Given the description of an element on the screen output the (x, y) to click on. 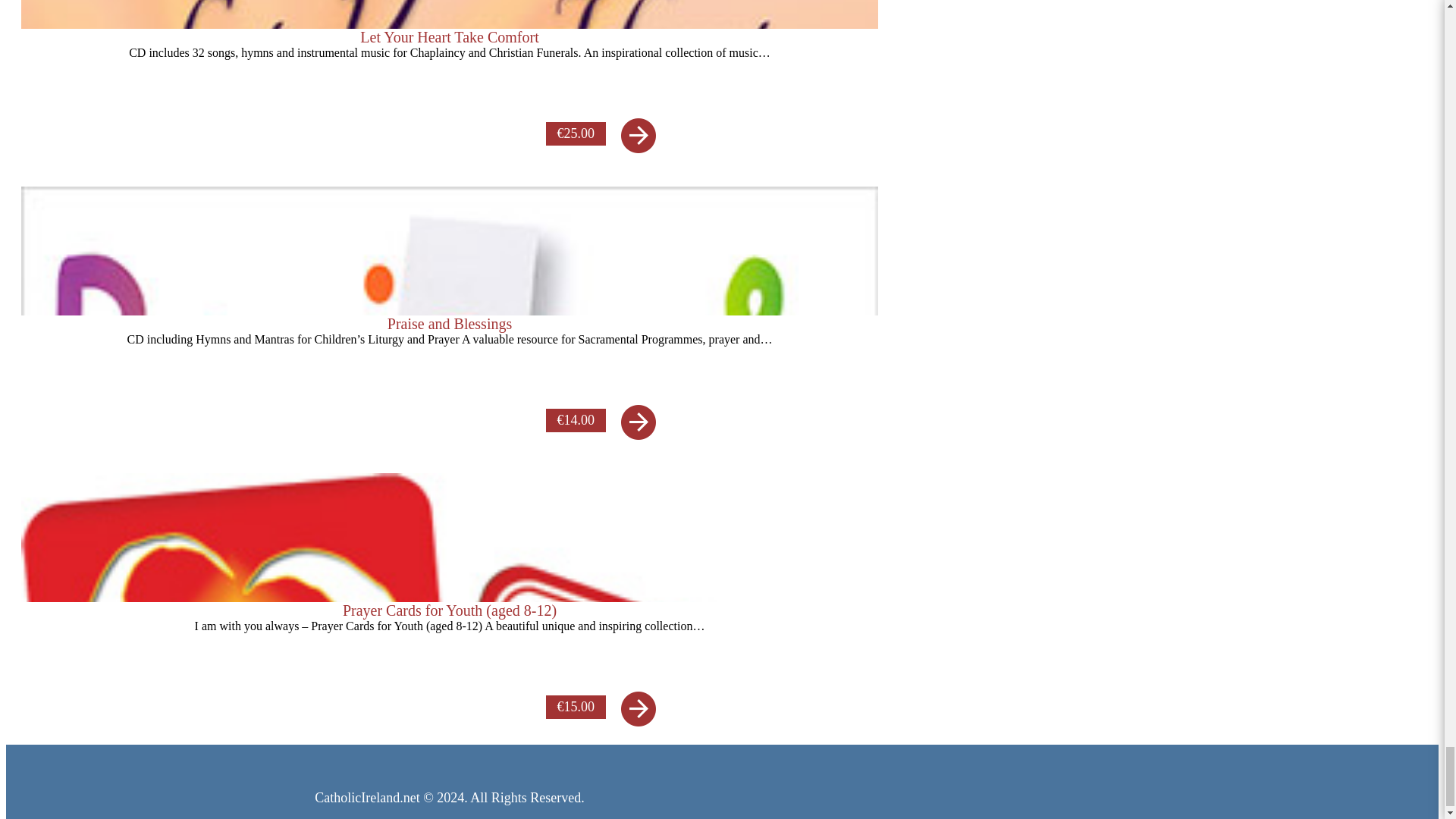
Let Your Heart Take Comfort (449, 70)
